Given the description of an element on the screen output the (x, y) to click on. 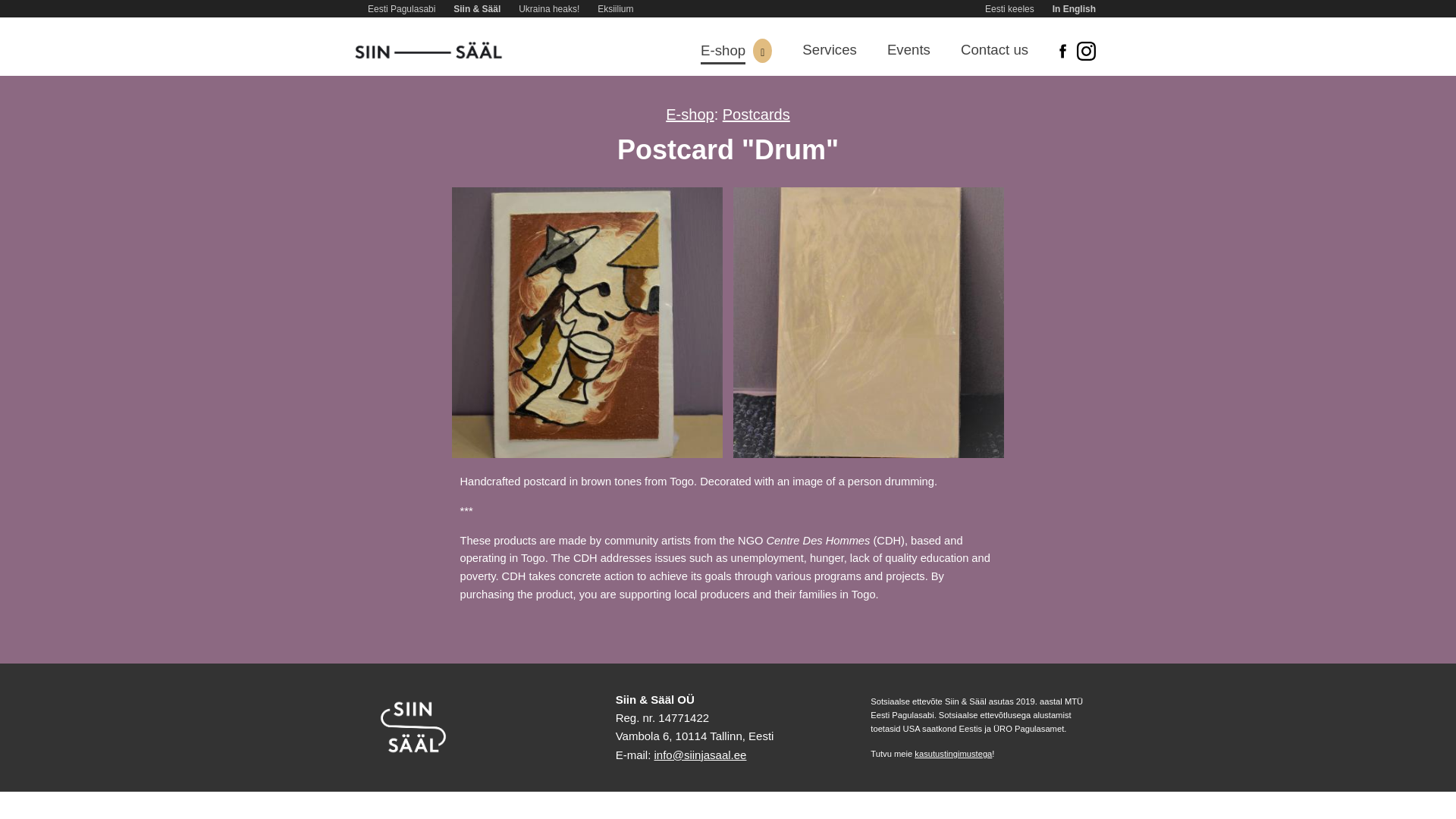
kasutustingimustega (952, 753)
In English (1074, 9)
E-shop (722, 51)
Services (829, 50)
Events (908, 50)
Postcards (756, 114)
E-shop (689, 114)
Eesti Pagulasabi (401, 9)
Contact us (993, 50)
Eksiilium (614, 9)
Eesti keeles (1009, 9)
Ukraina heaks! (548, 9)
